Given the description of an element on the screen output the (x, y) to click on. 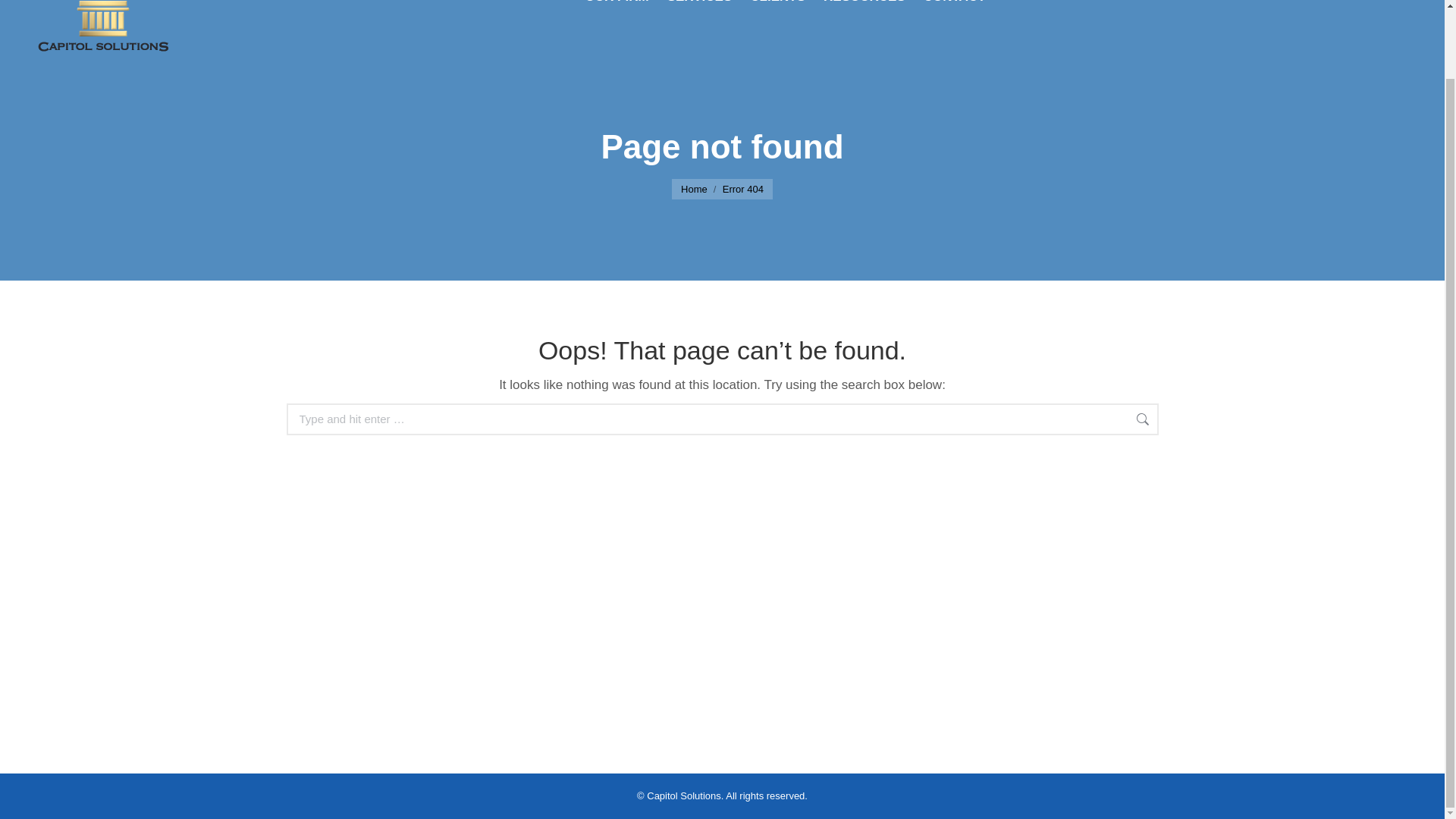
CLIENTS (777, 4)
SERVICES (699, 4)
Go! (1183, 420)
OUR FIRM (616, 4)
Home (694, 188)
CONTACT (955, 4)
RESOURCES (863, 4)
Go! (1183, 420)
